Given the description of an element on the screen output the (x, y) to click on. 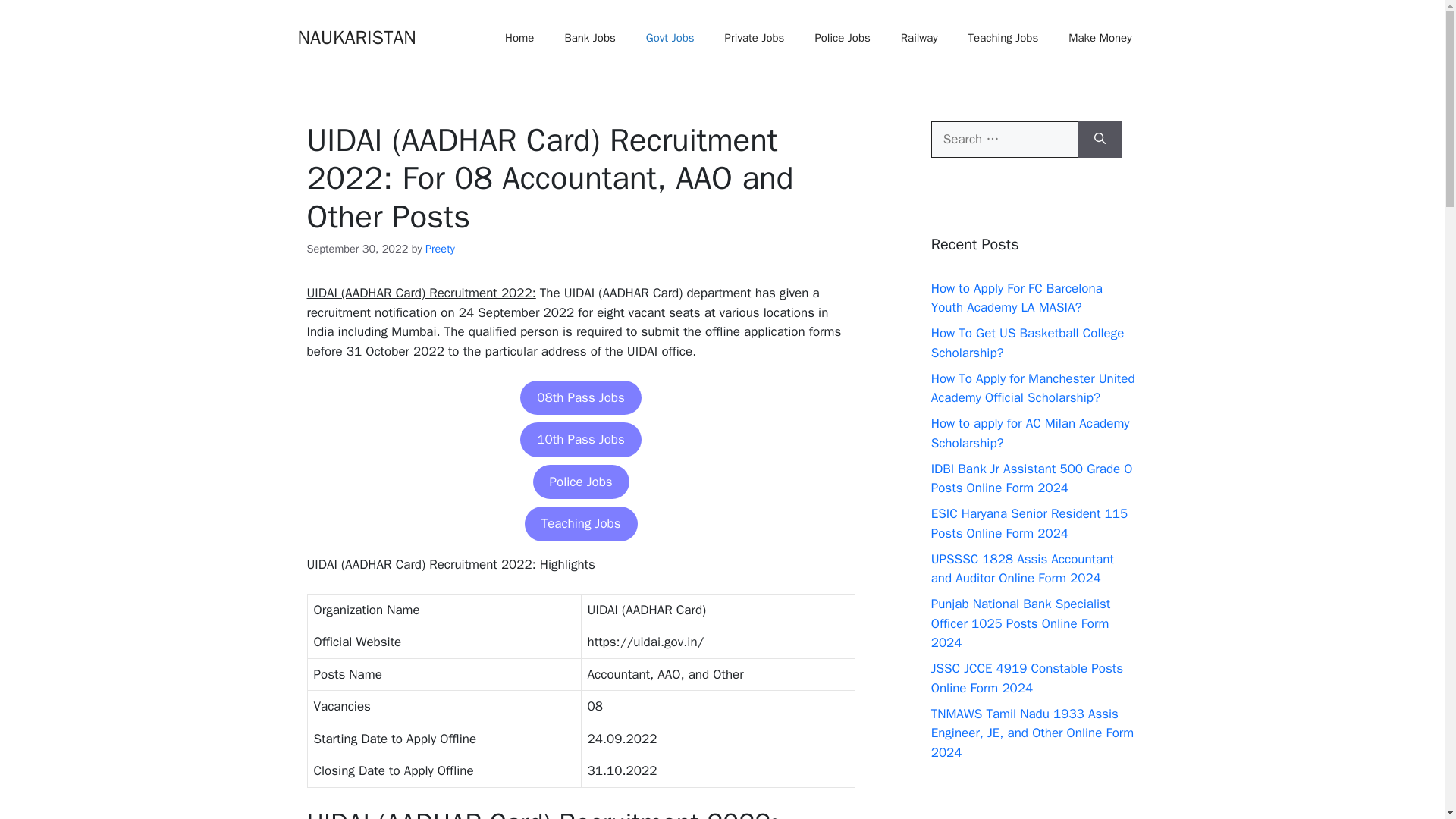
Police Jobs (580, 482)
Police Jobs (580, 481)
How to apply for AC Milan Academy Scholarship? (1030, 433)
View all posts by Preety (439, 248)
Teaching Jobs (580, 523)
Make Money (1099, 37)
Search for: (1004, 139)
Teaching Jobs (1003, 37)
NAUKARISTAN (355, 37)
Teaching Jobs (580, 523)
Preety (439, 248)
10th Pass Jobs (579, 439)
Police Jobs (842, 37)
Govt Jobs (670, 37)
